Given the description of an element on the screen output the (x, y) to click on. 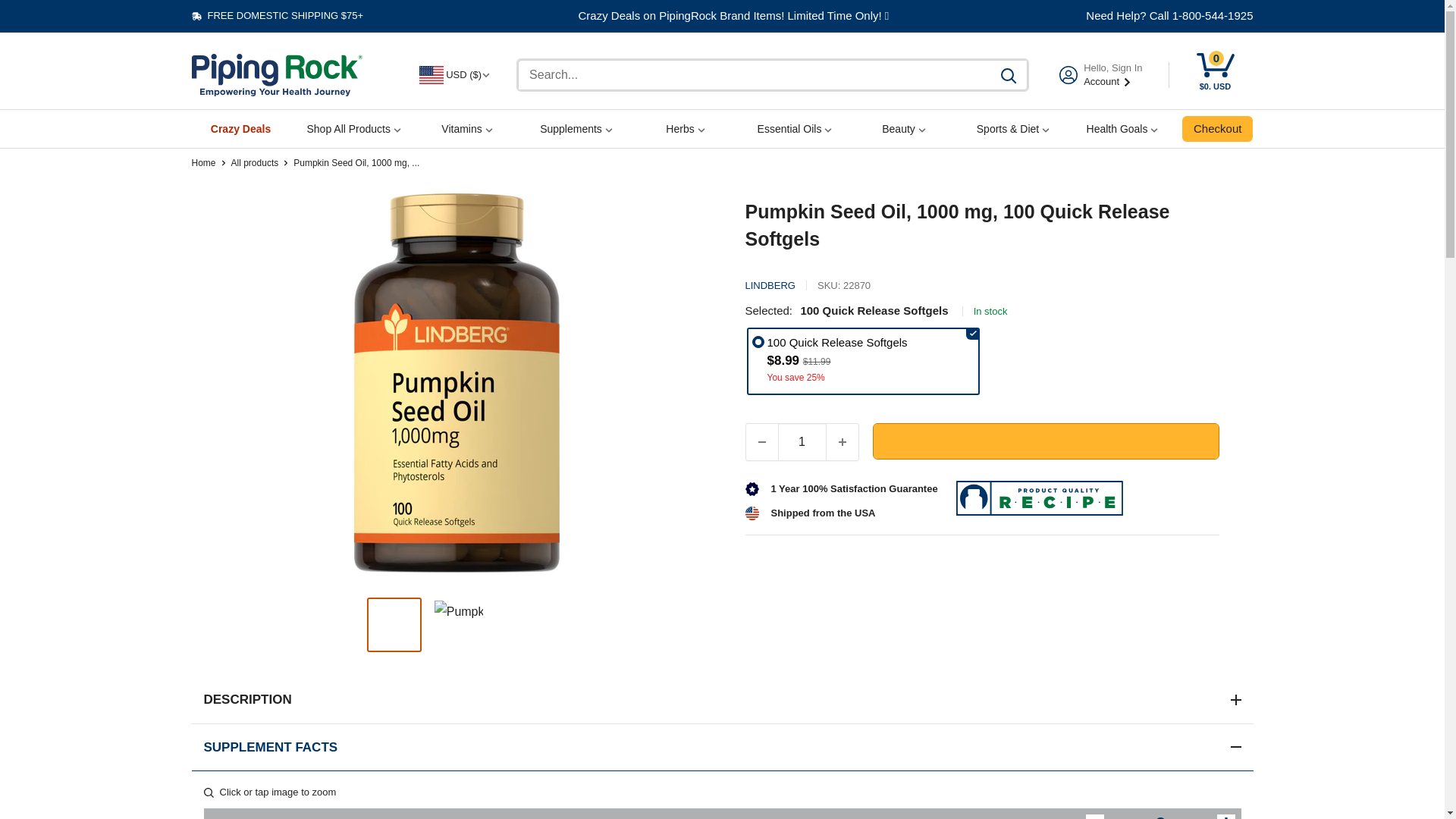
1 (802, 442)
43261354410222 (758, 341)
Shipped from the USA (822, 512)
50 (1160, 816)
